Given the description of an element on the screen output the (x, y) to click on. 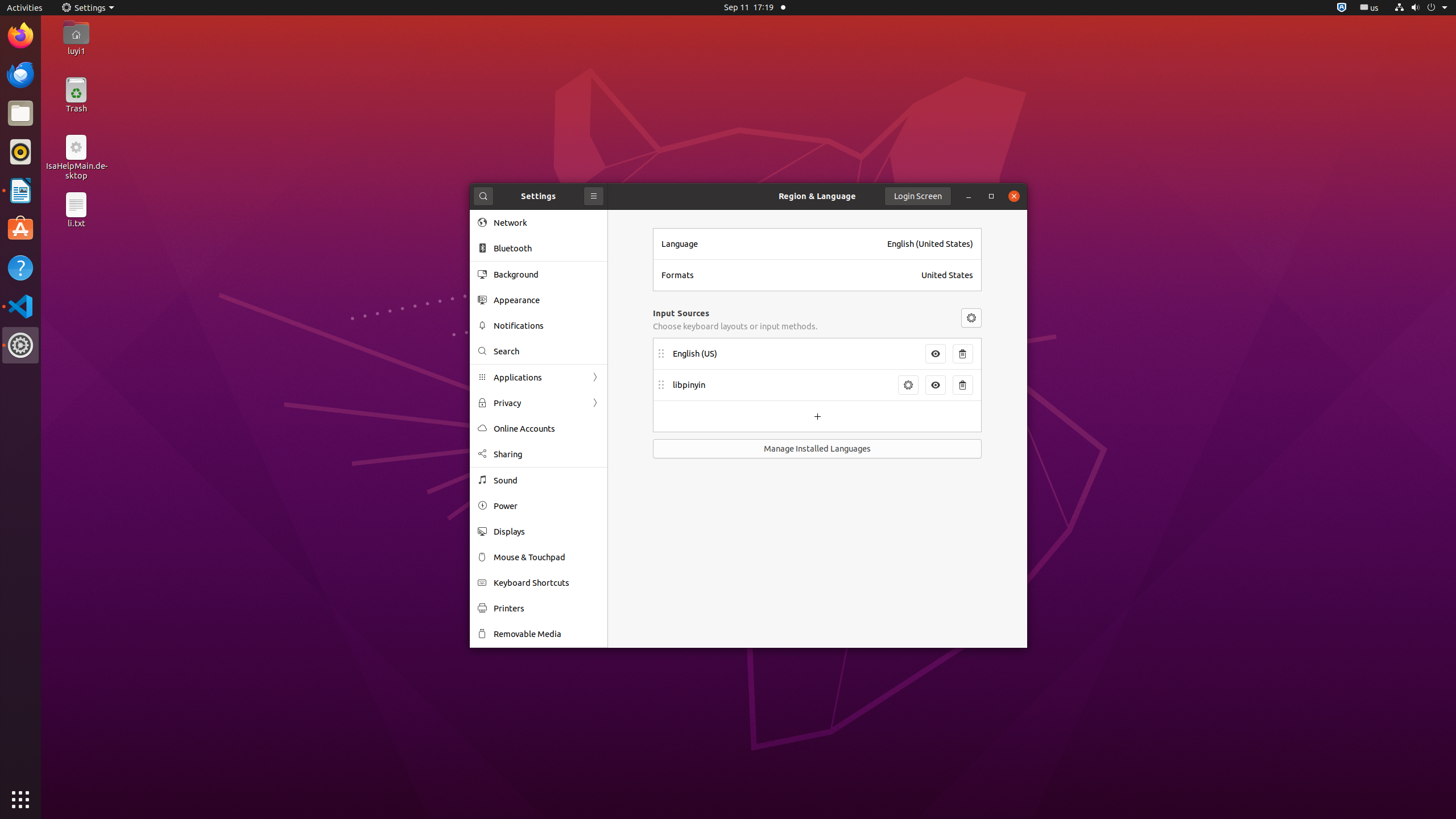
Manage Installed Languages Element type: push-button (816, 448)
Formats Element type: label (787, 274)
Settings Element type: push-button (20, 344)
Minimize Element type: push-button (968, 195)
IsaHelpMain.desktop Element type: label (75, 170)
